Given the description of an element on the screen output the (x, y) to click on. 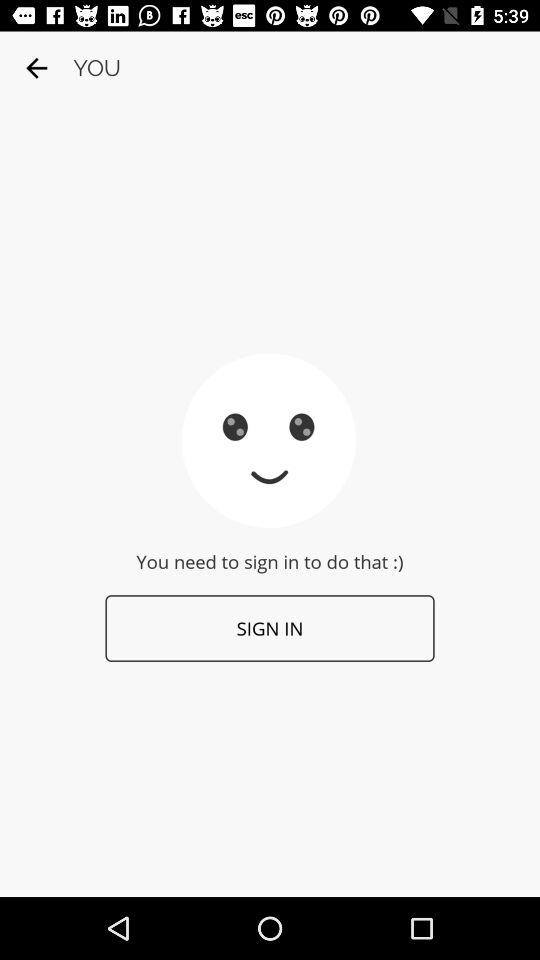
launch item next to the you item (36, 68)
